Given the description of an element on the screen output the (x, y) to click on. 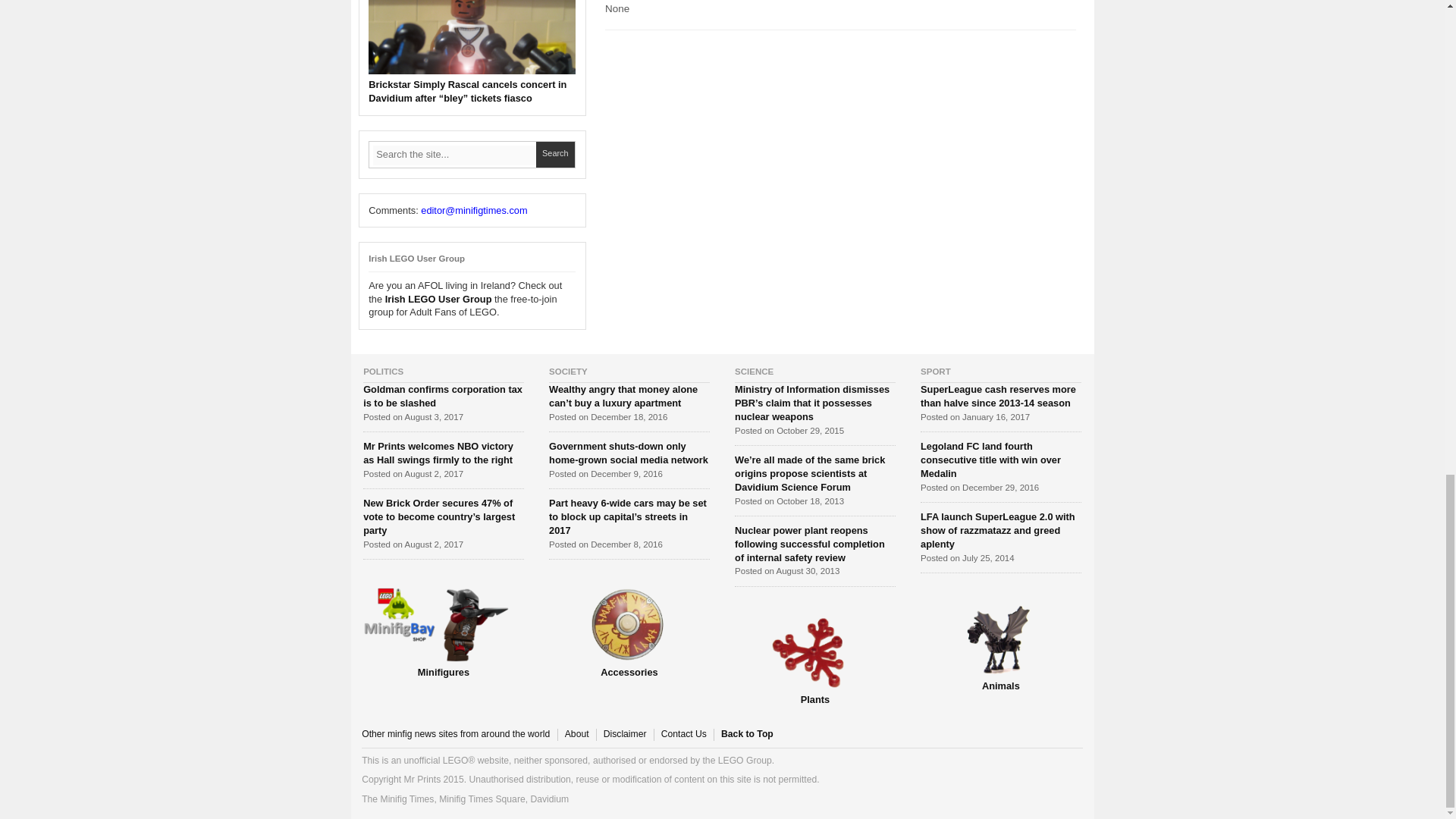
Search (555, 154)
